Given the description of an element on the screen output the (x, y) to click on. 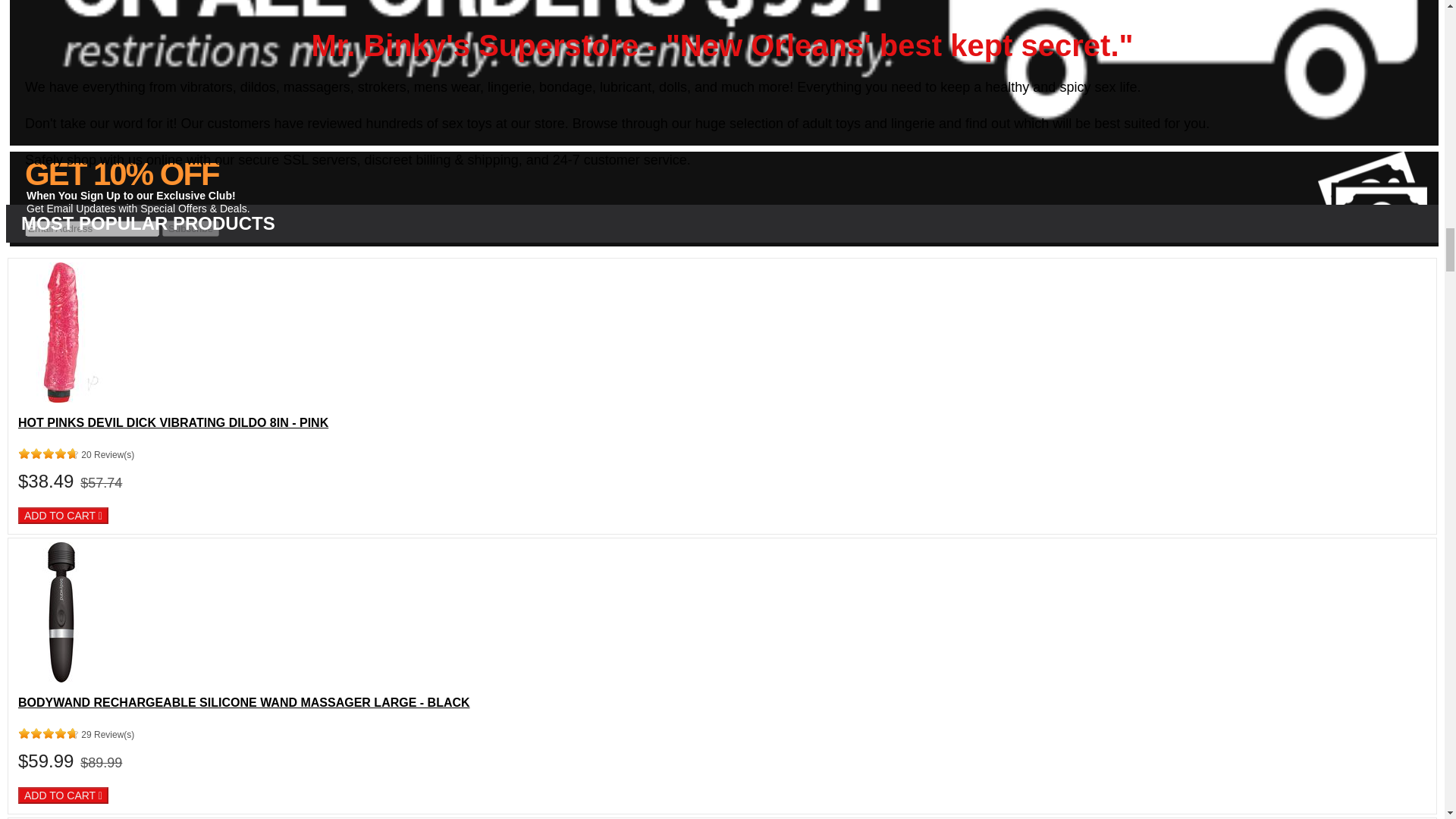
Hot Pinks Devil Dick Vibrating Dildo 8in - Pink (173, 422)
Bodywand Rechargeable Silicone Wand Massager Large - Black (60, 678)
Subscribe (190, 228)
Bodywand Rechargeable Silicone Wand Massager Large - Black (243, 702)
Hot Pinks Devil Dick Vibrating Dildo 8in - Pink (60, 398)
